Given the description of an element on the screen output the (x, y) to click on. 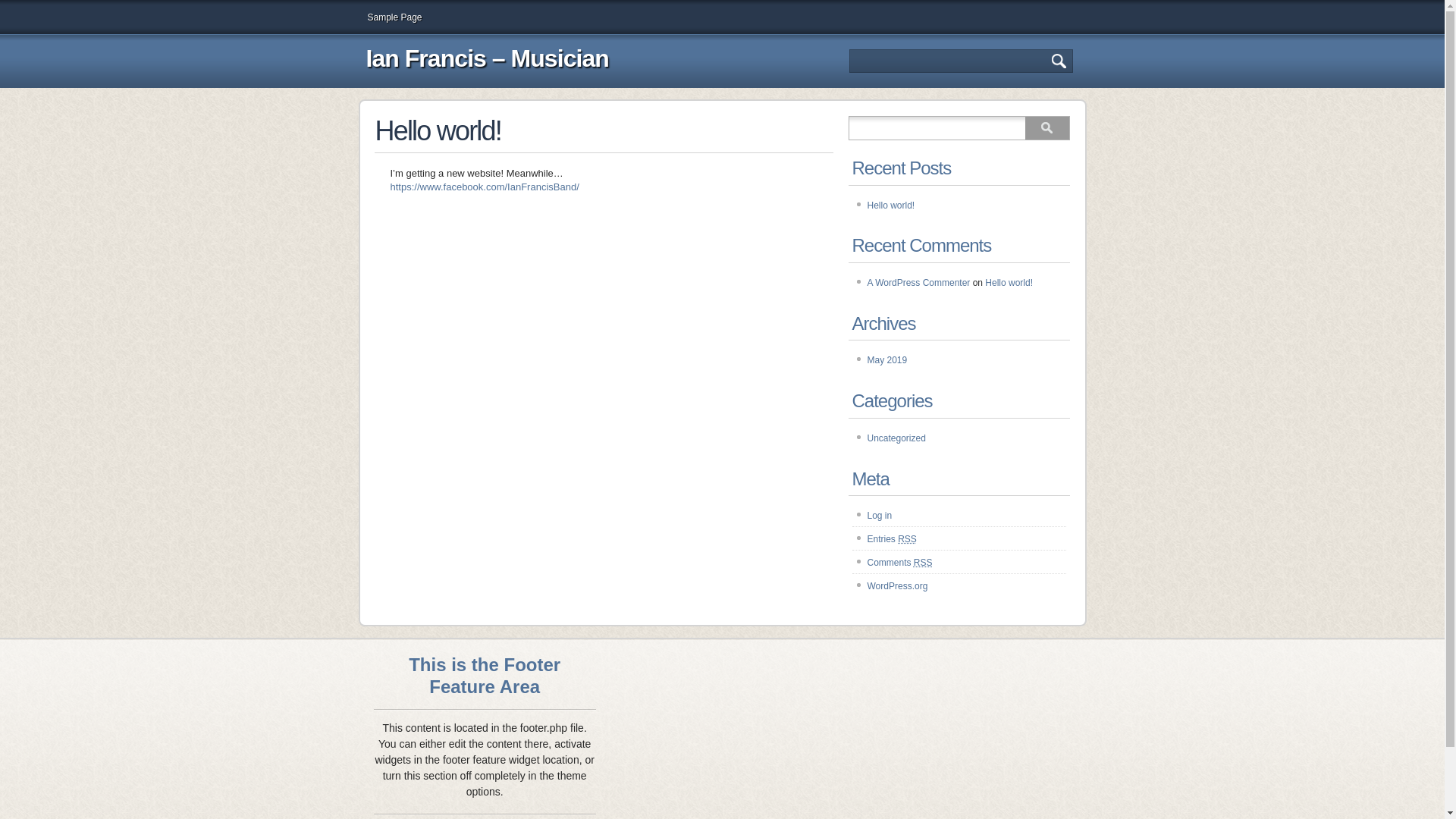
Hello world! Element type: text (891, 205)
Uncategorized Element type: text (896, 438)
Entries RSS Element type: text (891, 538)
Sample Page Element type: text (393, 17)
WordPress.org Element type: text (897, 585)
May 2019 Element type: text (887, 359)
A WordPress Commenter Element type: text (918, 282)
Comments RSS Element type: text (899, 562)
Hello world! Element type: text (1008, 282)
https://www.facebook.com/IanFrancisBand/ Element type: text (483, 186)
Log in Element type: text (879, 515)
